Given the description of an element on the screen output the (x, y) to click on. 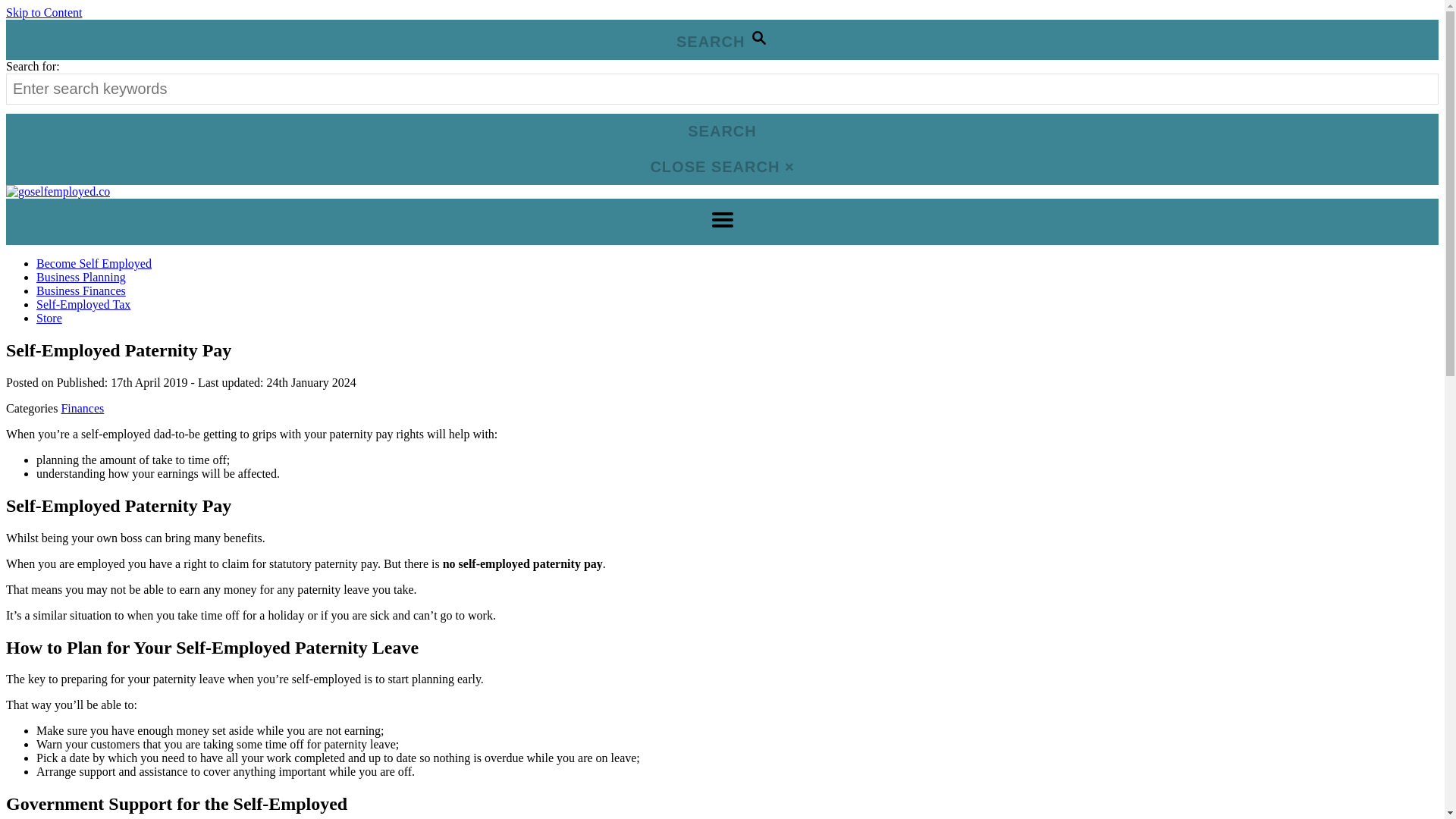
Business Finances (80, 290)
Skip to Content (43, 11)
Finances (82, 408)
Self-Employed Tax (83, 304)
Business Planning (80, 277)
MAGNIFYING GLASS (758, 37)
goselfemployed.co (57, 191)
Store (49, 318)
Become Self Employed (93, 263)
